Given the description of an element on the screen output the (x, y) to click on. 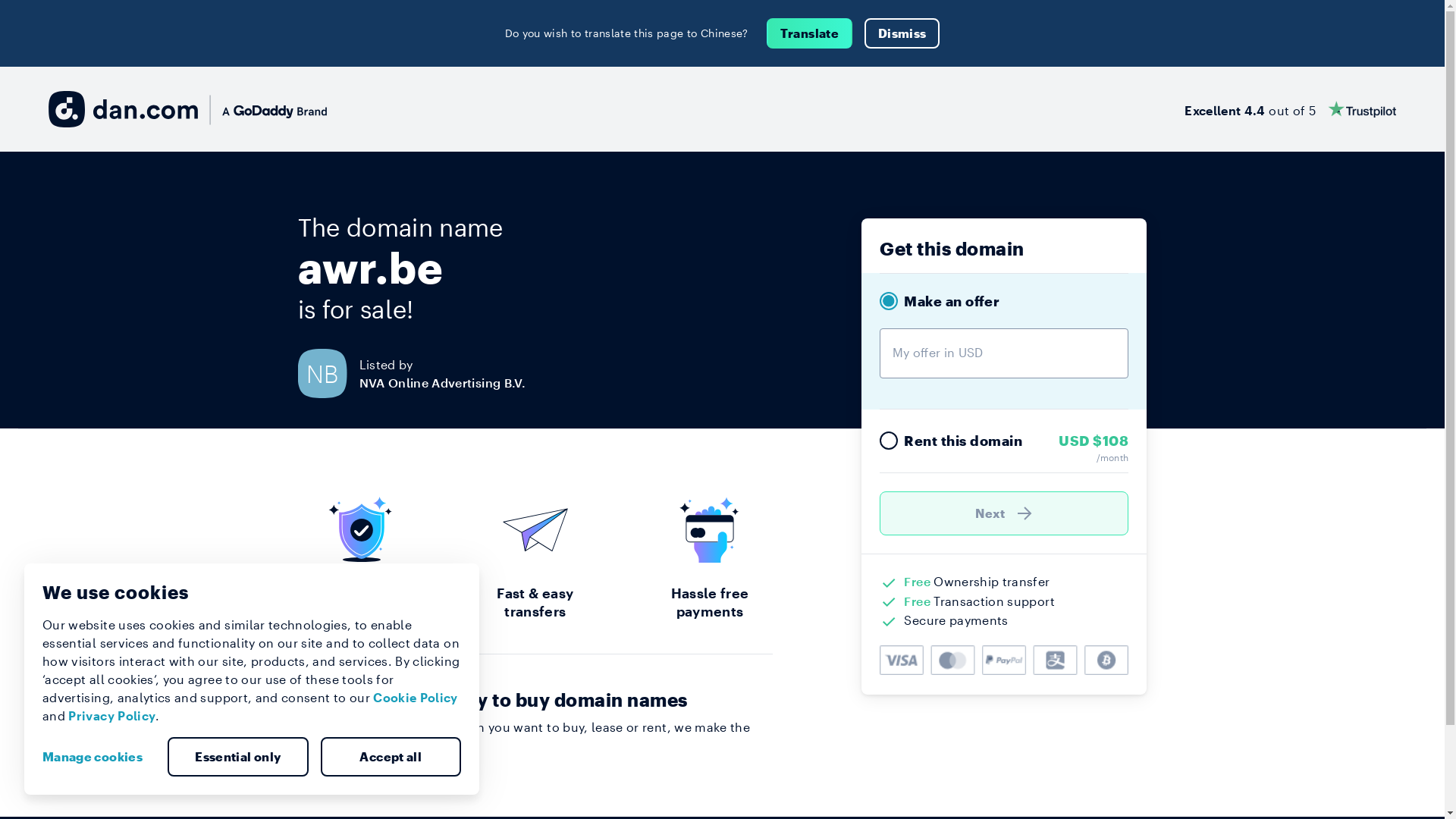
Essential only Element type: text (237, 756)
Cookie Policy Element type: text (415, 697)
Excellent 4.4 out of 5 Element type: text (1290, 109)
Privacy Policy Element type: text (111, 715)
Translate Element type: text (809, 33)
Next
) Element type: text (1003, 513)
Dismiss Element type: text (901, 33)
Manage cookies Element type: text (98, 756)
Accept all Element type: text (390, 756)
